Given the description of an element on the screen output the (x, y) to click on. 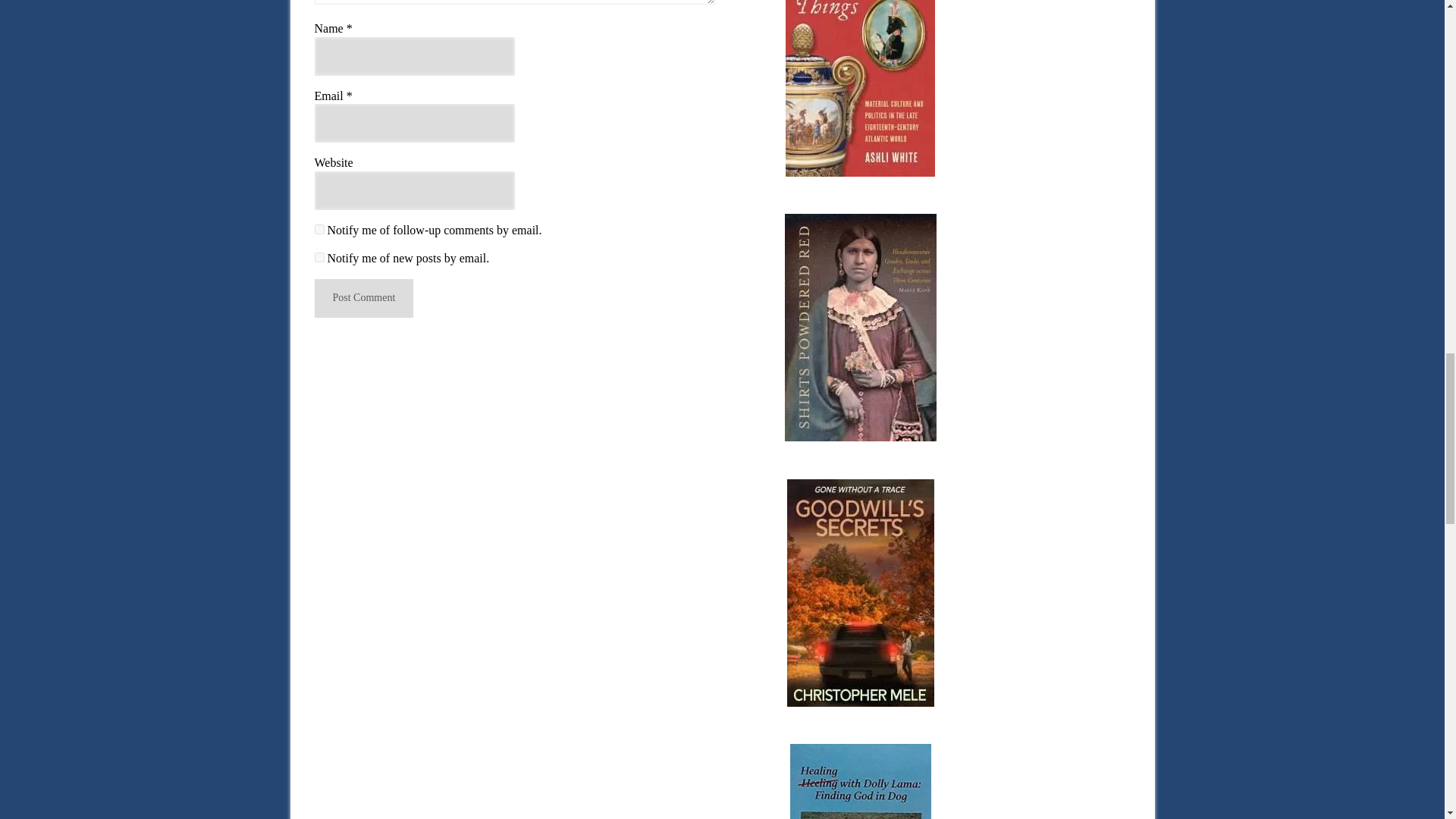
subscribe (318, 257)
Post Comment (363, 298)
subscribe (318, 229)
